Given the description of an element on the screen output the (x, y) to click on. 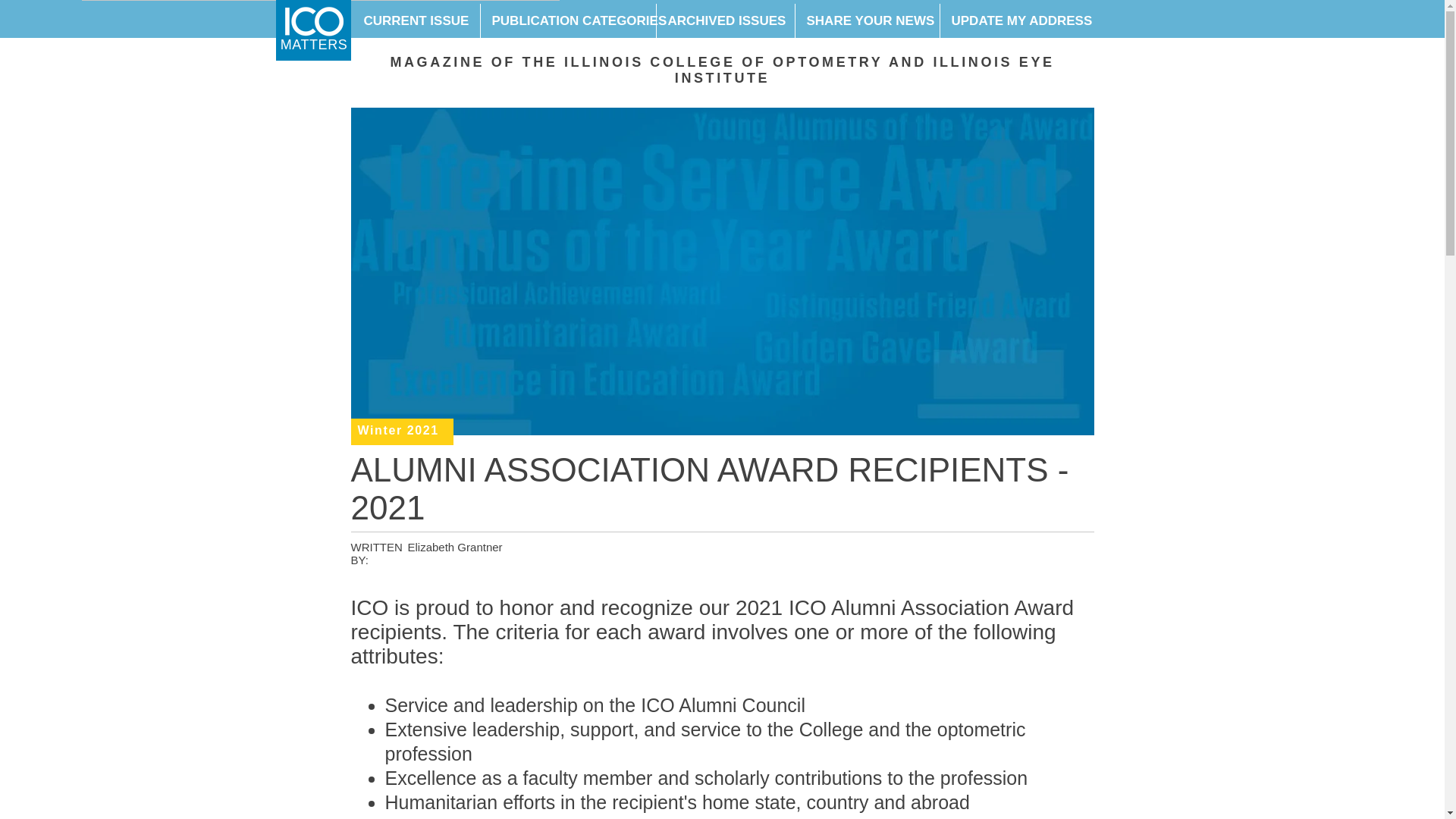
CURRENT ISSUE (415, 21)
ARCHIVED ISSUES (724, 21)
SHARE YOUR NEWS (866, 21)
UPDATE MY ADDRESS (1015, 21)
